Given the description of an element on the screen output the (x, y) to click on. 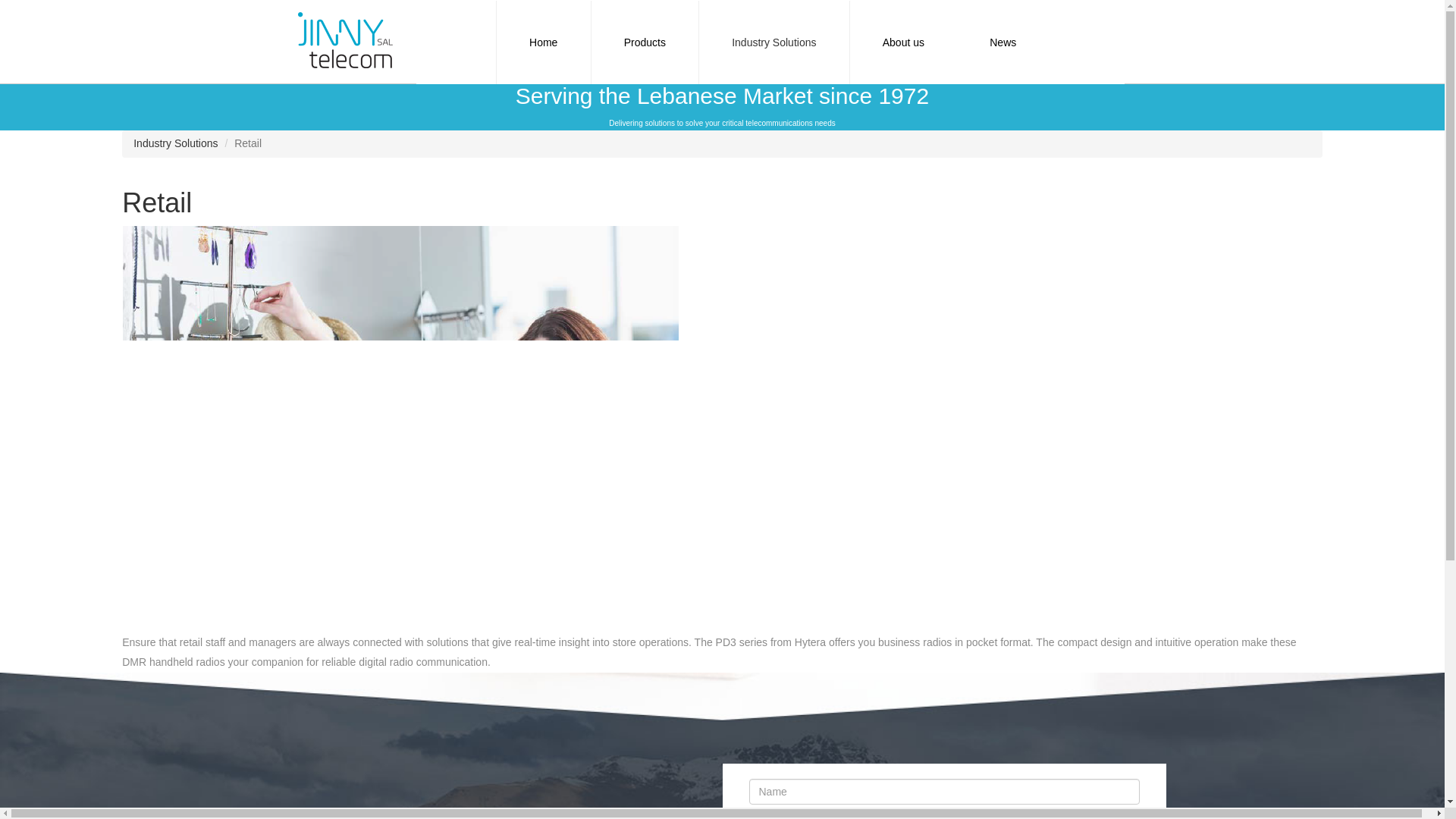
Home (543, 41)
News (1003, 41)
About us (903, 41)
